Given the description of an element on the screen output the (x, y) to click on. 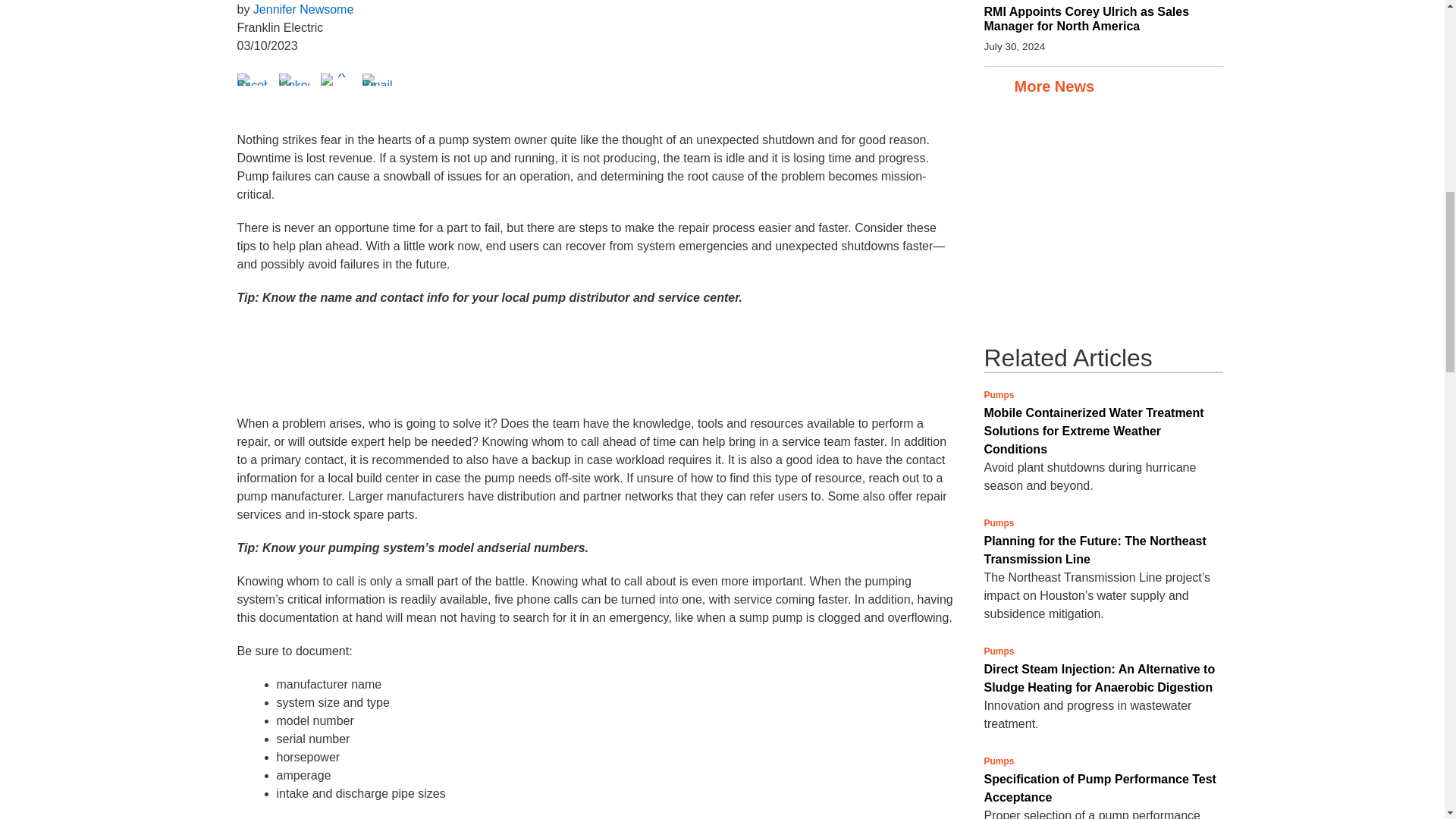
Facebook (250, 78)
Linkedin (293, 78)
3rd party ad content (1097, 221)
X (335, 78)
Email (377, 78)
3rd party ad content (594, 368)
